Given the description of an element on the screen output the (x, y) to click on. 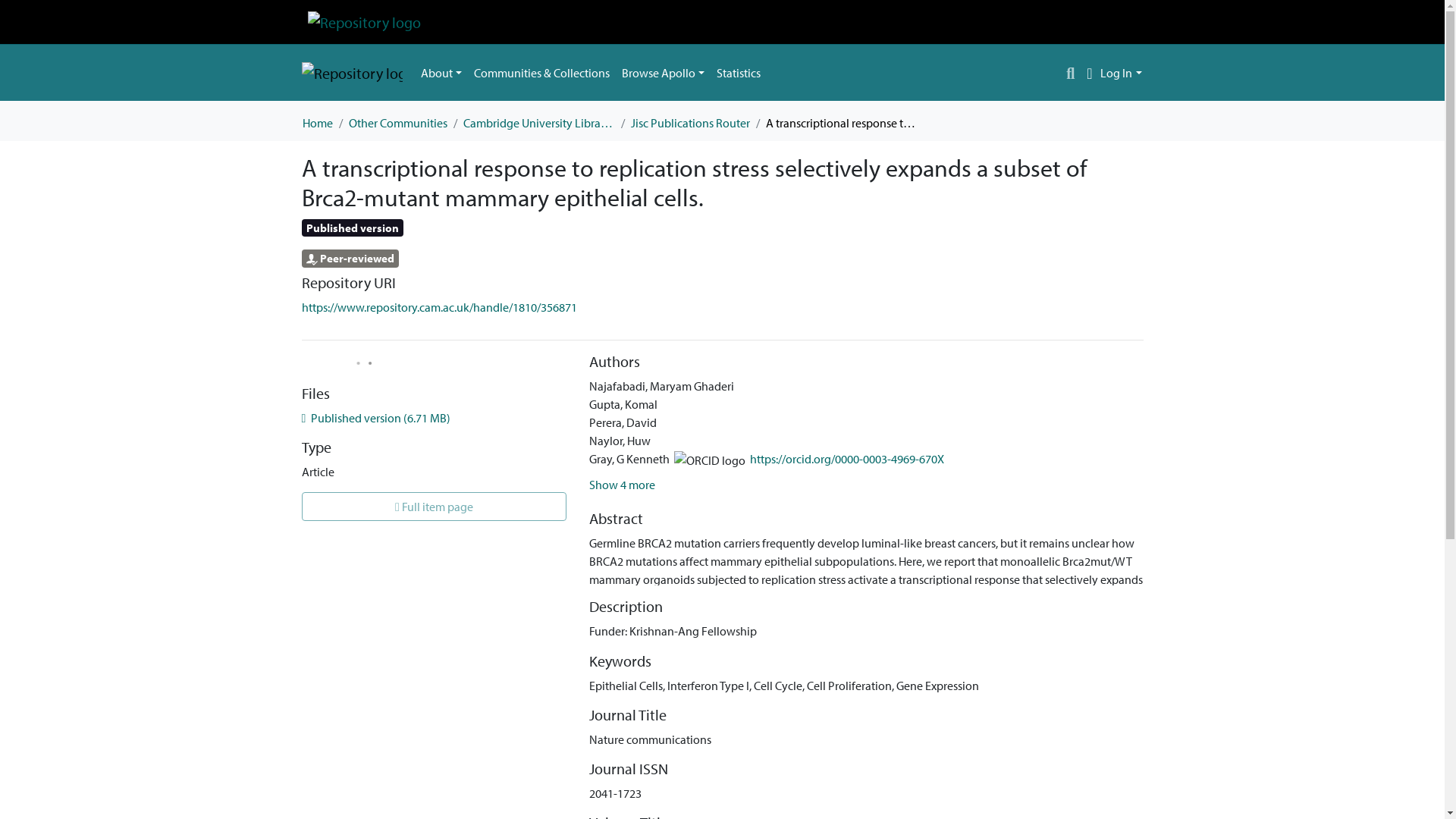
Statistics (738, 72)
Search (1070, 72)
Other Communities (397, 122)
Home (316, 122)
Statistics (738, 72)
About (440, 72)
Cambridge University Libraries (538, 122)
Language switch (1089, 72)
Jisc Publications Router (689, 122)
Show 4 more (622, 484)
